Given the description of an element on the screen output the (x, y) to click on. 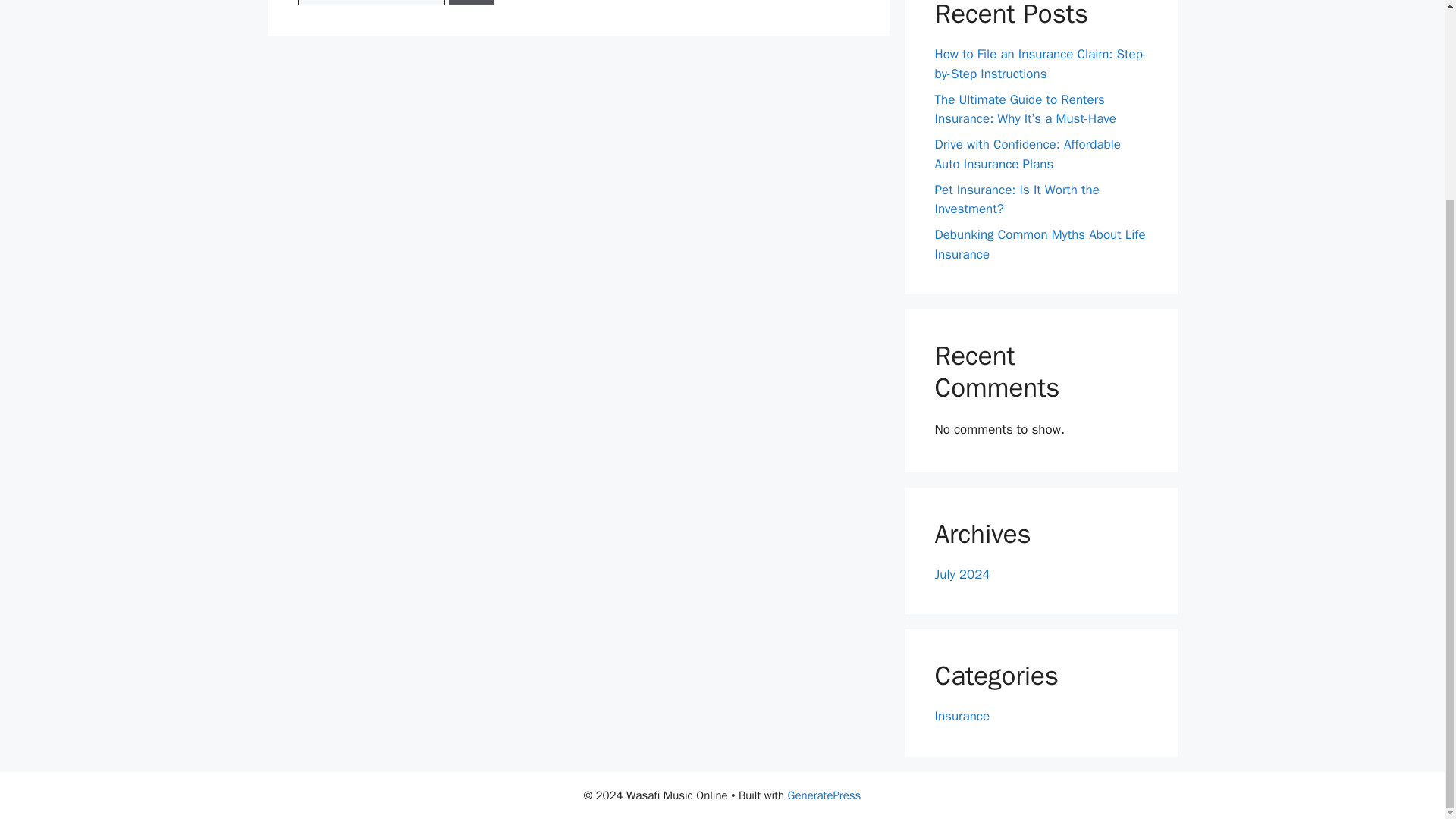
Search for: (370, 2)
Pet Insurance: Is It Worth the Investment? (1016, 199)
How to File an Insurance Claim: Step-by-Step Instructions (1039, 63)
Debunking Common Myths About Life Insurance (1039, 244)
July 2024 (962, 574)
Drive with Confidence: Affordable Auto Insurance Plans (1026, 153)
Insurance (962, 715)
GeneratePress (824, 795)
